Given the description of an element on the screen output the (x, y) to click on. 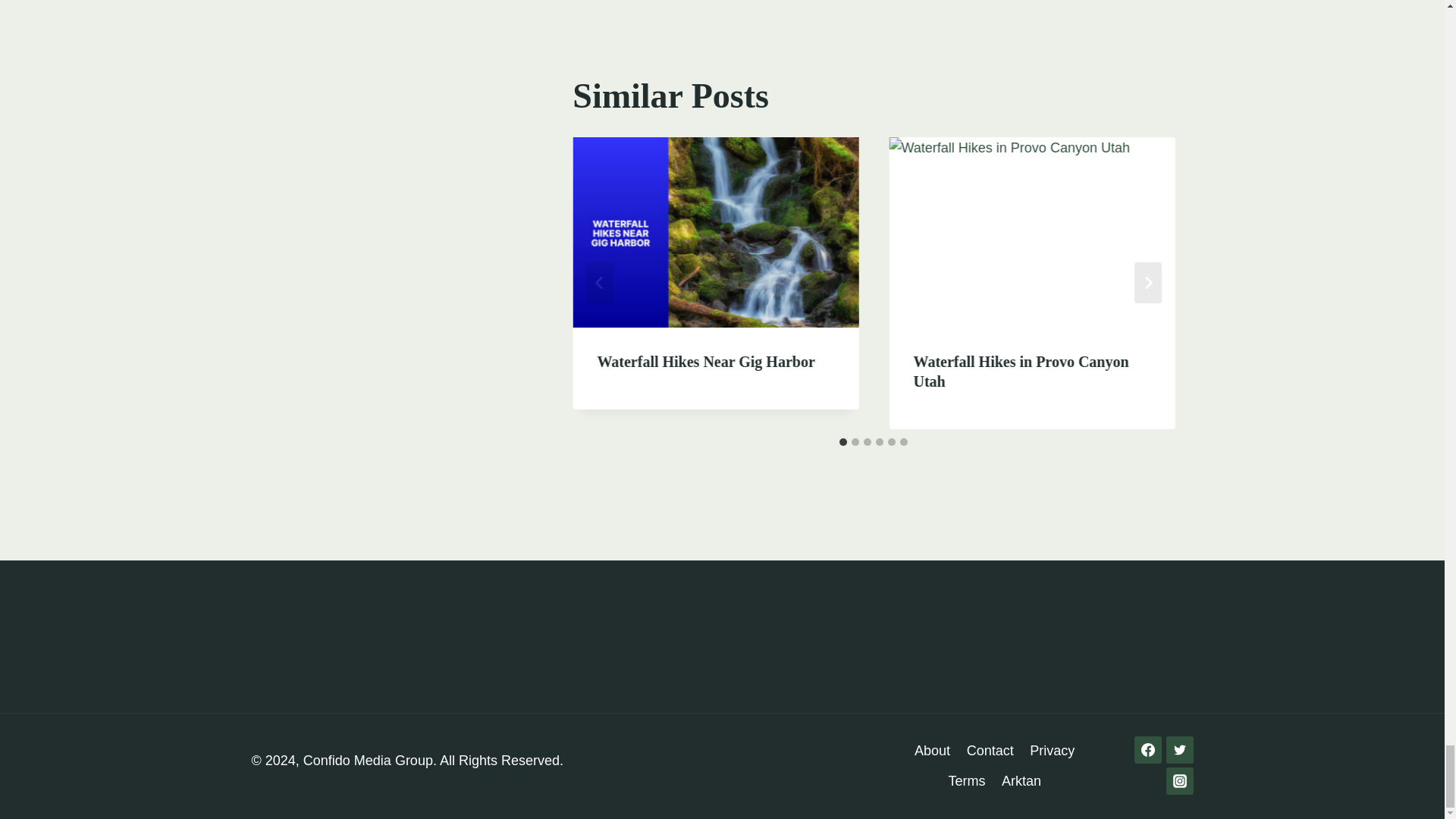
Waterfall Hikes in Provo Canyon Utah 3 (1031, 232)
Waterfall Hikes Near Gig Harbor 2 (715, 232)
